Given the description of an element on the screen output the (x, y) to click on. 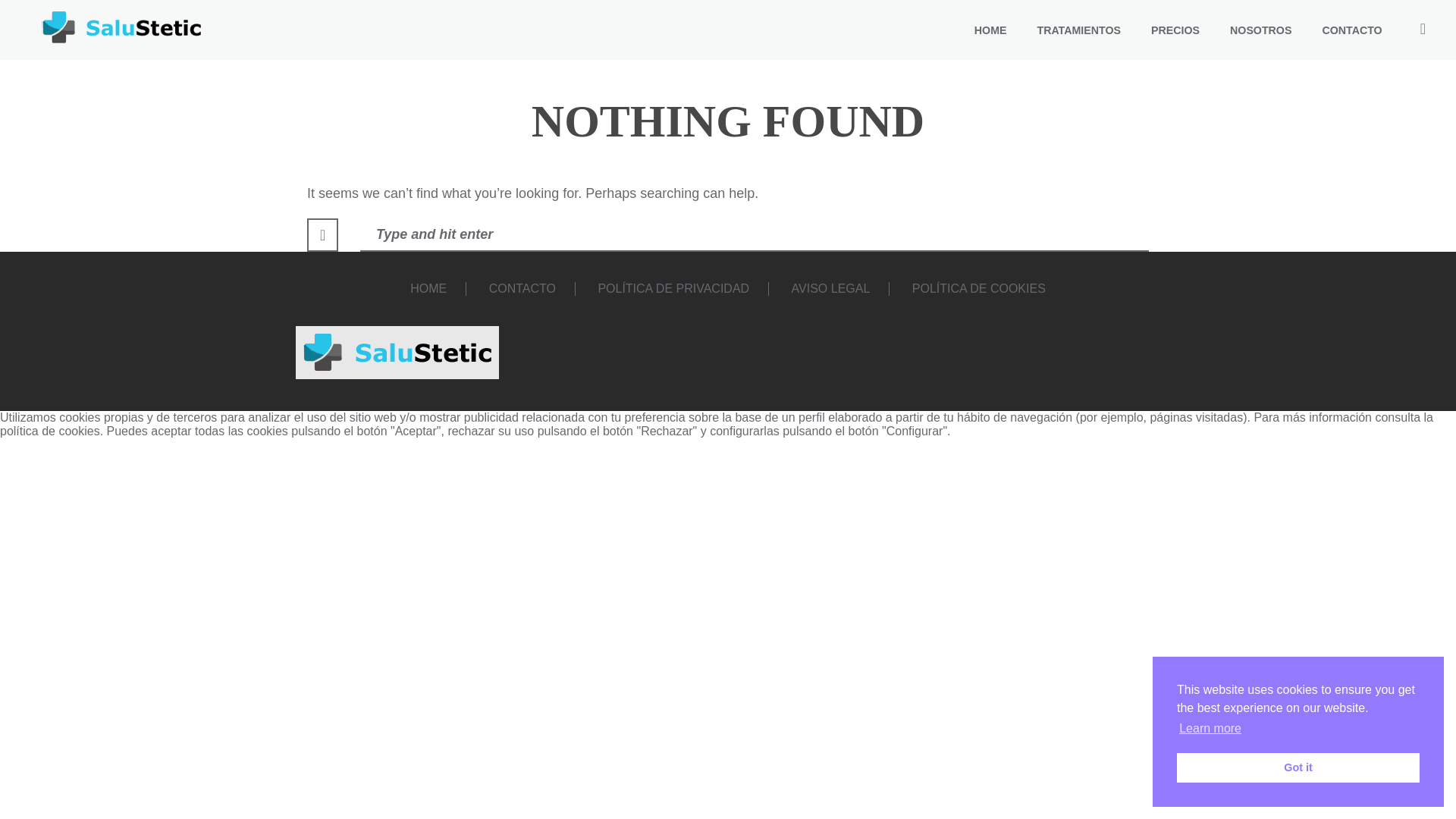
HOME (428, 287)
CONTACTO (1351, 30)
NOSOTROS (1260, 30)
TRATAMIENTOS (1078, 30)
PRECIOS (1175, 30)
CONTACTO (522, 287)
HOME (990, 30)
AVISO LEGAL (831, 287)
